Given the description of an element on the screen output the (x, y) to click on. 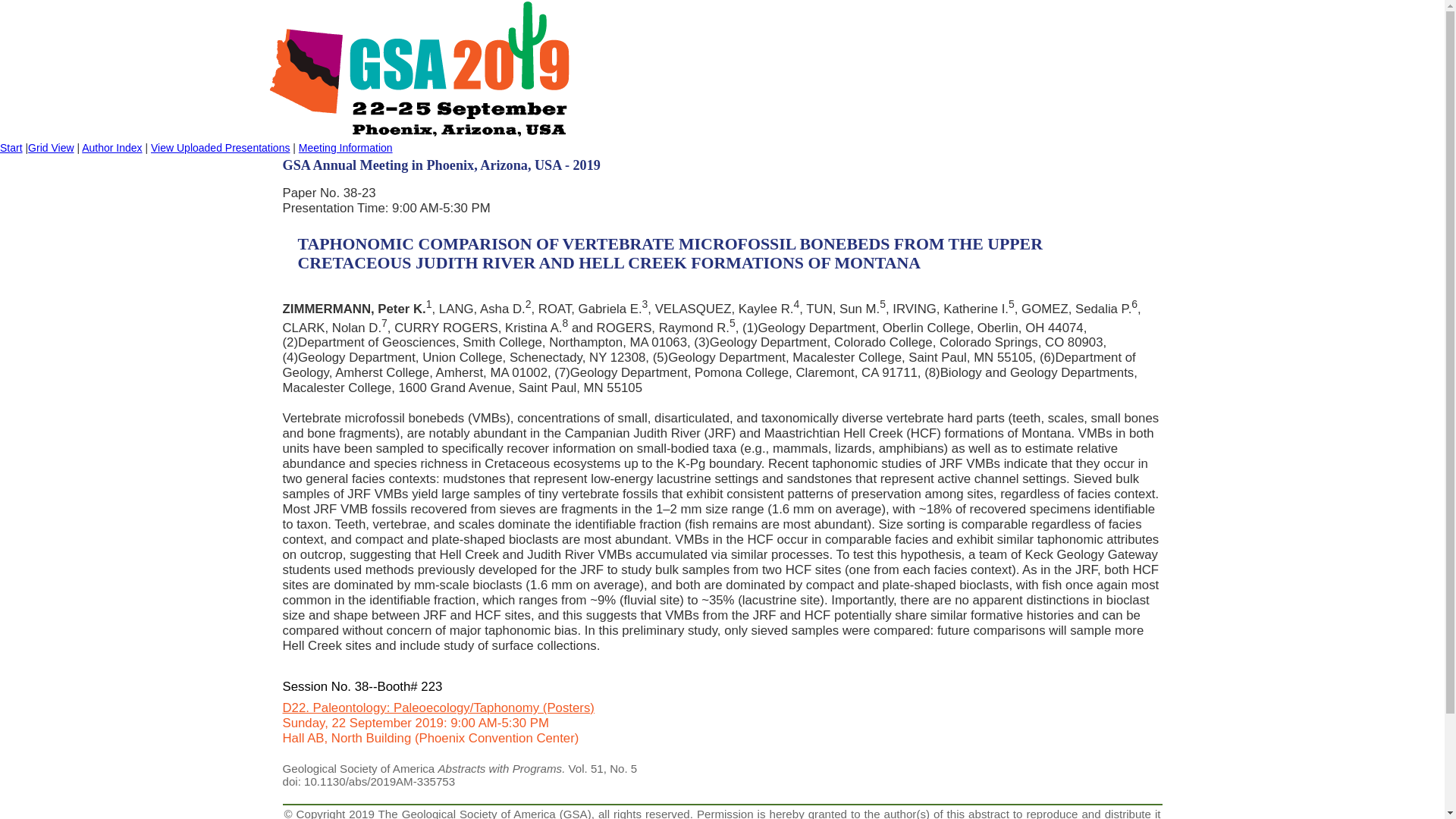
Author Index (111, 147)
Start (11, 147)
View Uploaded Presentations (220, 147)
Meeting Information (345, 147)
Grid View (50, 147)
